Given the description of an element on the screen output the (x, y) to click on. 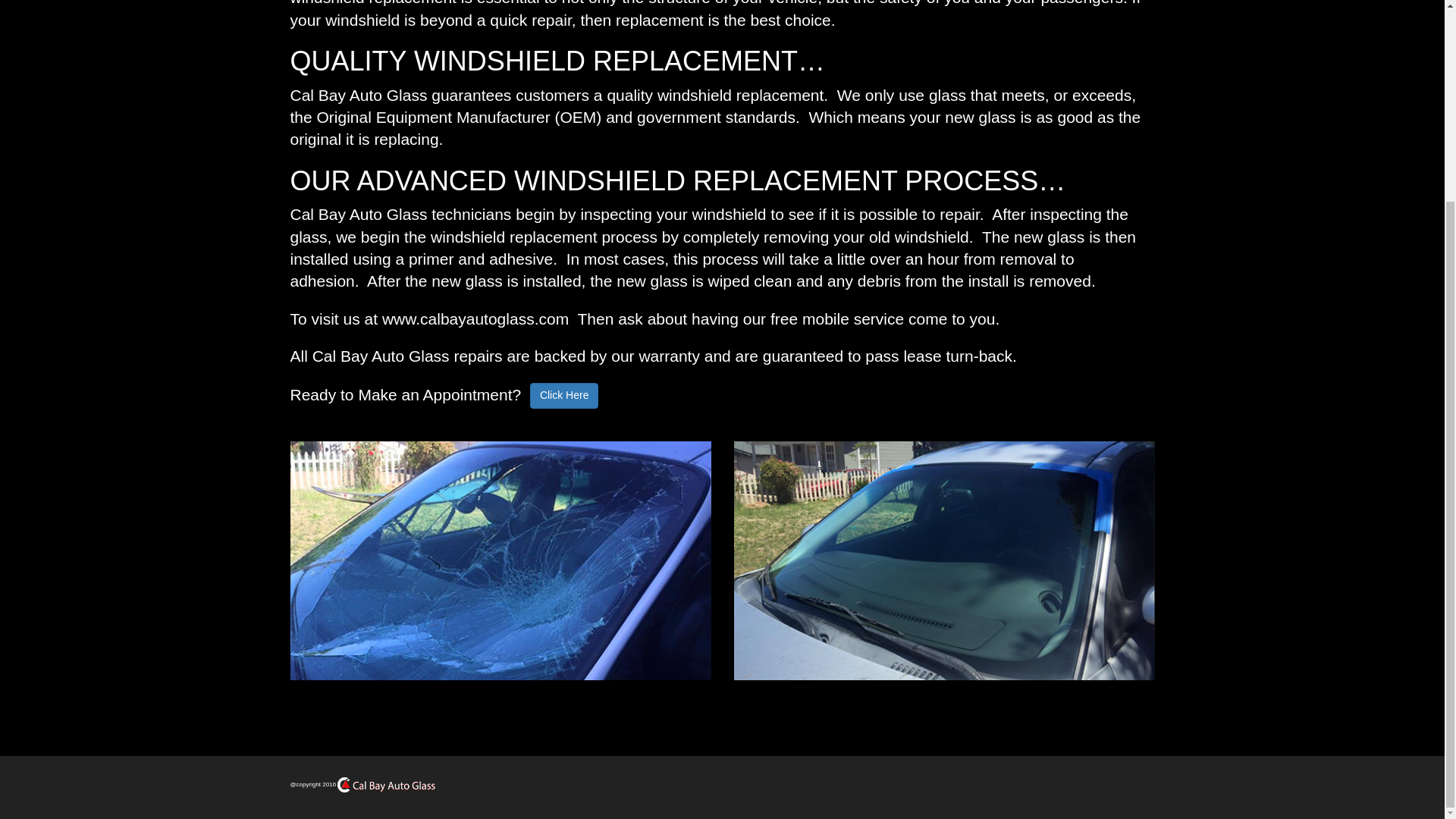
Click Here (563, 395)
